Given the description of an element on the screen output the (x, y) to click on. 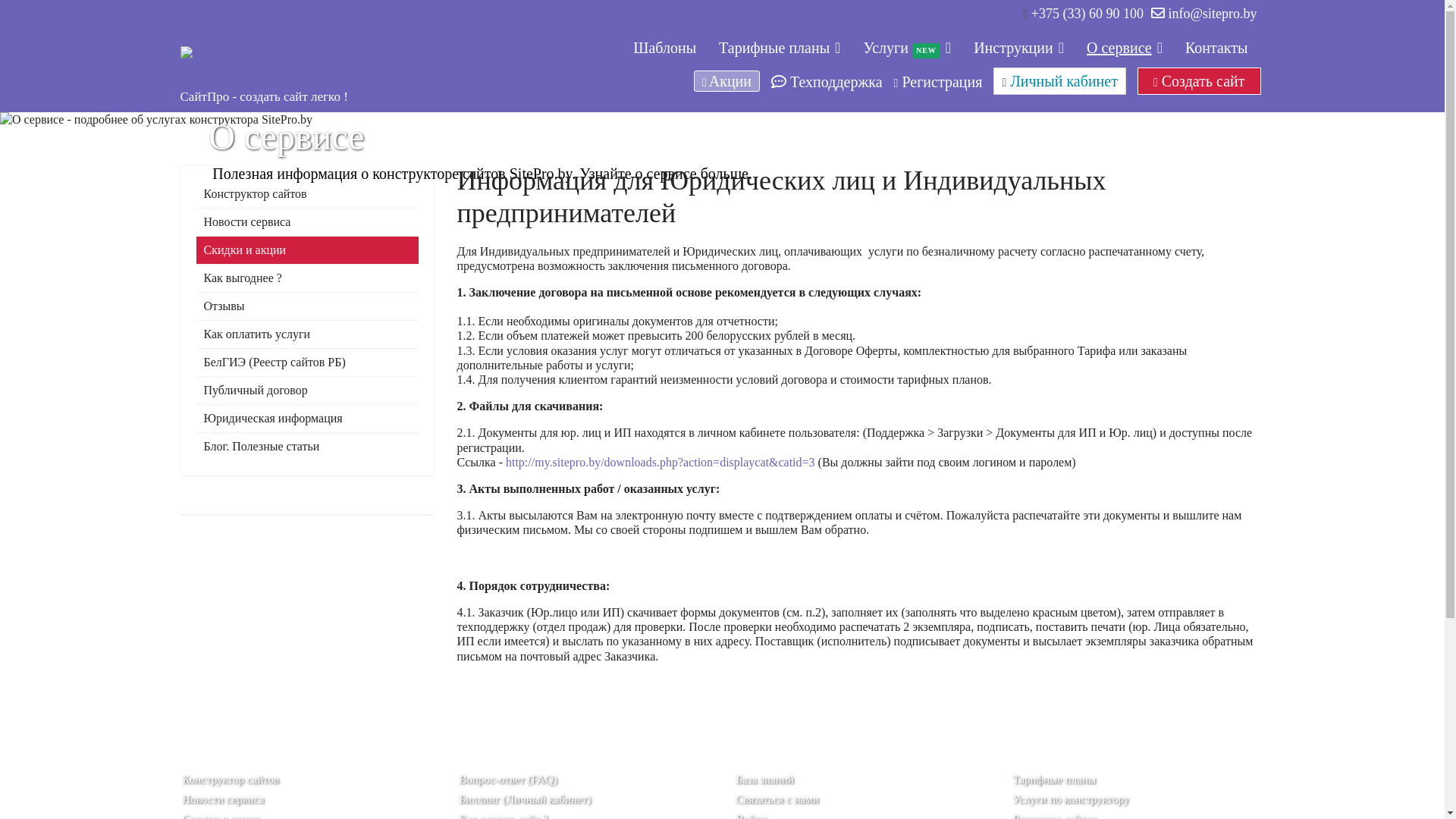
info@sitepro.by Element type: text (1211, 13)
http://my.sitepro.by/downloads.php?action=displaycat&catid=3 Element type: text (660, 461)
+375 (33) 60 90 100 Element type: text (1087, 13)
